Given the description of an element on the screen output the (x, y) to click on. 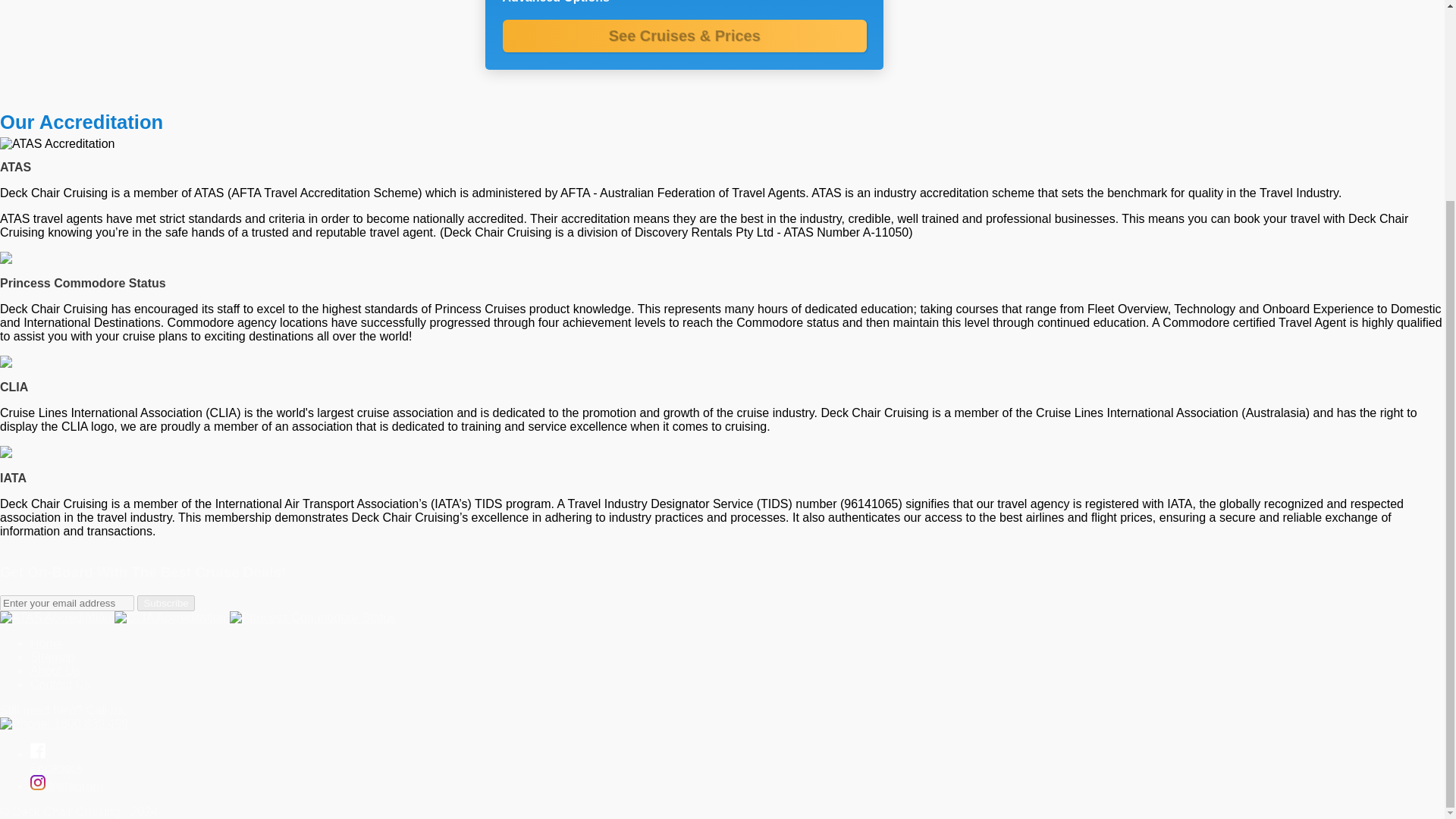
Subscribe (164, 602)
